Given the description of an element on the screen output the (x, y) to click on. 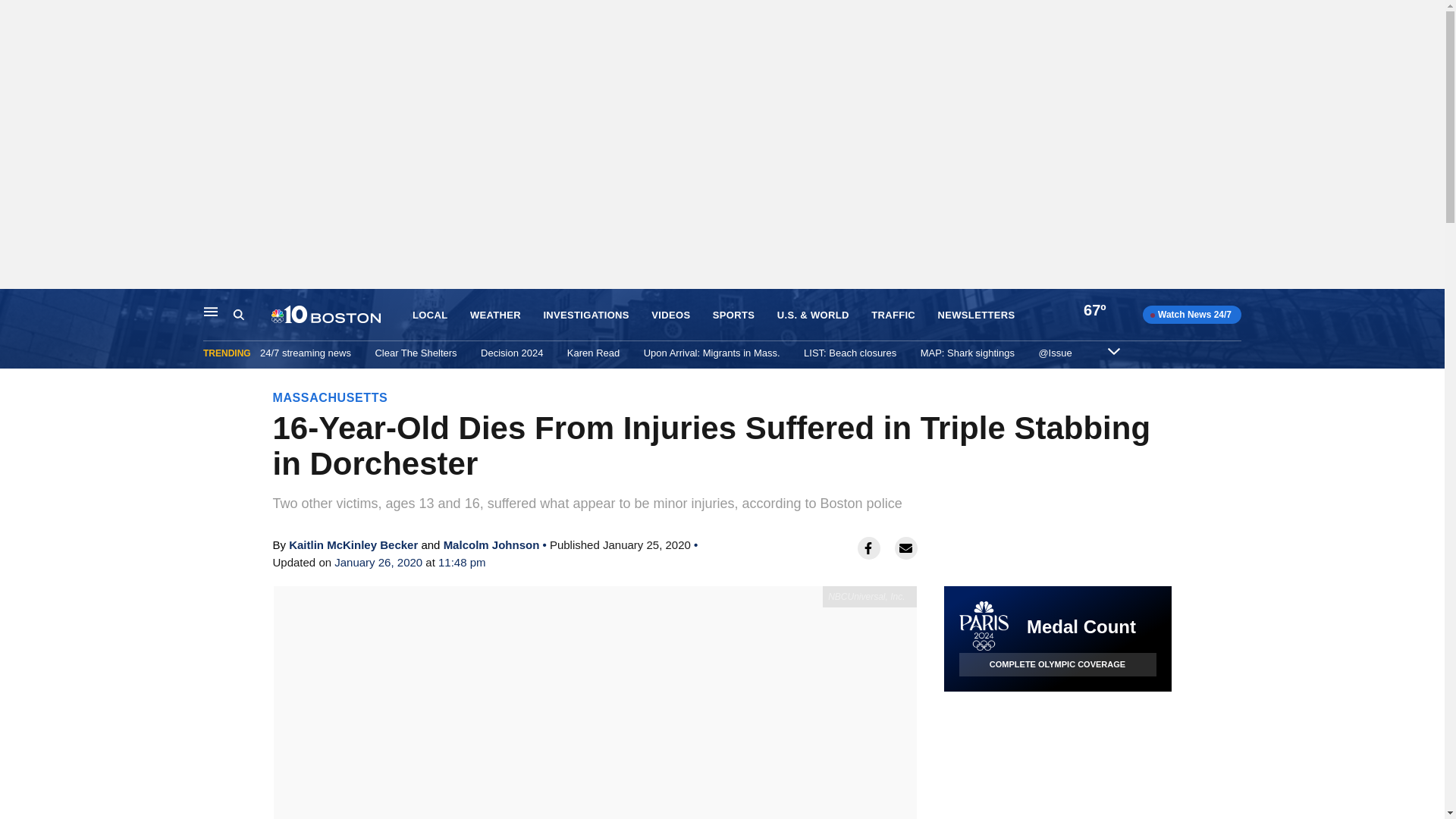
Skip to content (16, 304)
Main Navigation (210, 311)
3rd party ad content (1056, 755)
Upon Arrival: Migrants in Mass. (711, 352)
Decision 2024 (511, 352)
VIDEOS (670, 315)
LOCAL (429, 315)
TRAFFIC (892, 315)
Clear The Shelters (415, 352)
Karen Read (593, 352)
